Given the description of an element on the screen output the (x, y) to click on. 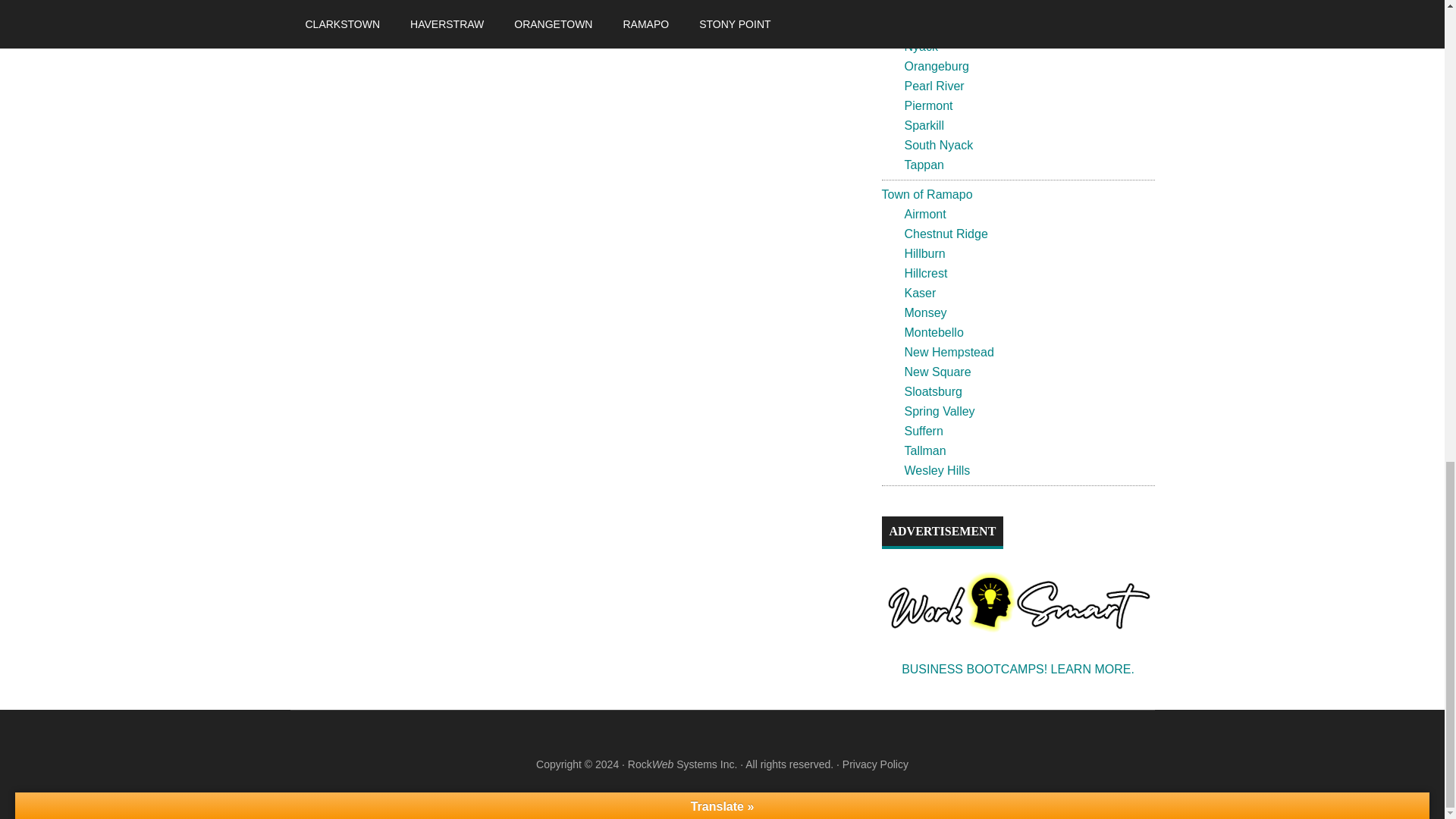
Town of Clarkstown (396, 9)
